Given the description of an element on the screen output the (x, y) to click on. 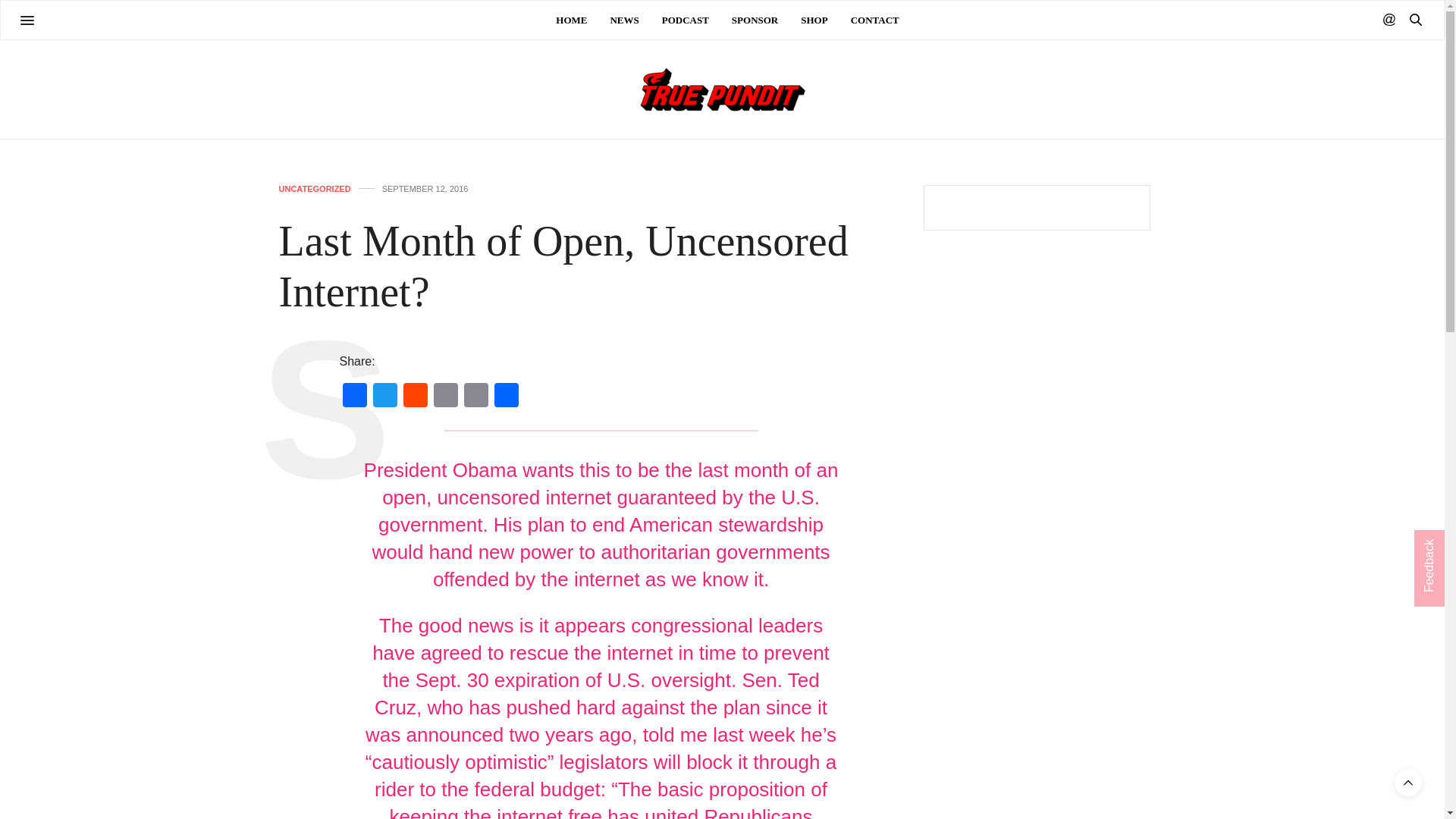
Ted Cruz (596, 694)
Email (445, 397)
Copy Link (476, 397)
Reddit (415, 397)
True Pundit (721, 89)
Twitter (384, 397)
Twitter (384, 397)
Copy Link (476, 397)
PODCAST (685, 19)
UNCATEGORIZED (314, 189)
